Given the description of an element on the screen output the (x, y) to click on. 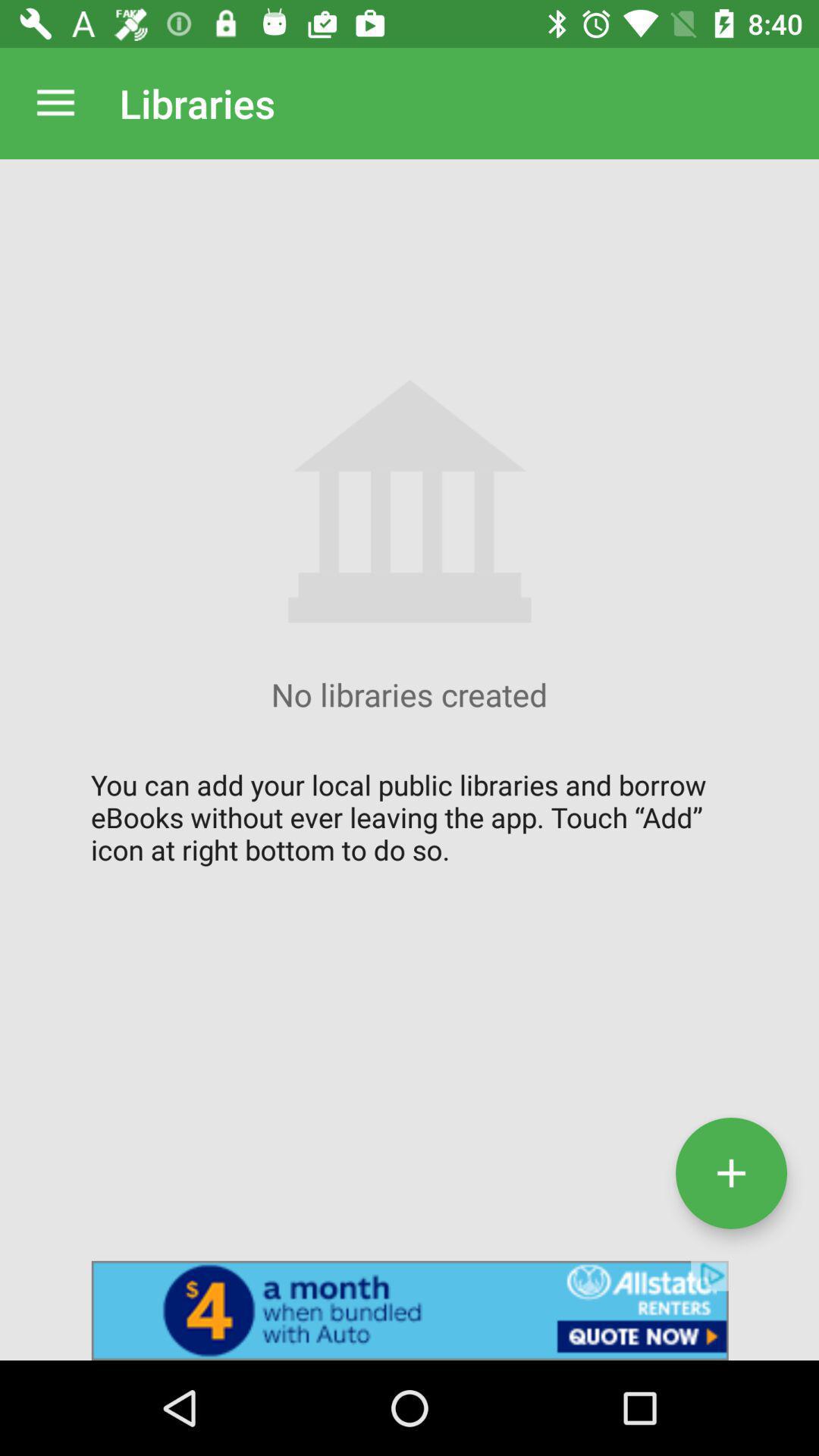
add an ebook (731, 1173)
